Given the description of an element on the screen output the (x, y) to click on. 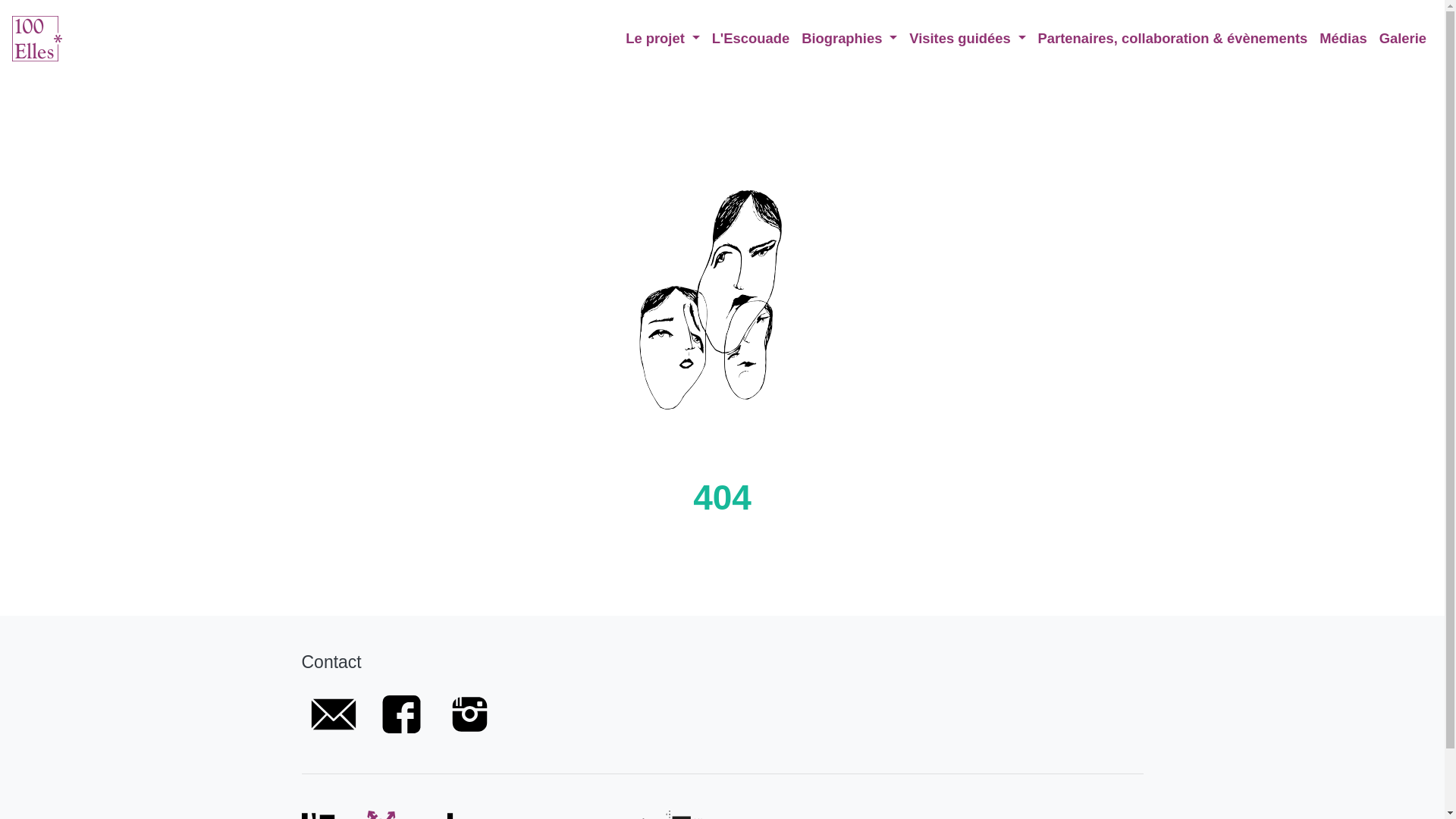
Biographies Element type: text (849, 37)
L'Escouade Element type: text (751, 37)
Le projet Element type: text (662, 37)
Galerie Element type: text (1402, 37)
